Given the description of an element on the screen output the (x, y) to click on. 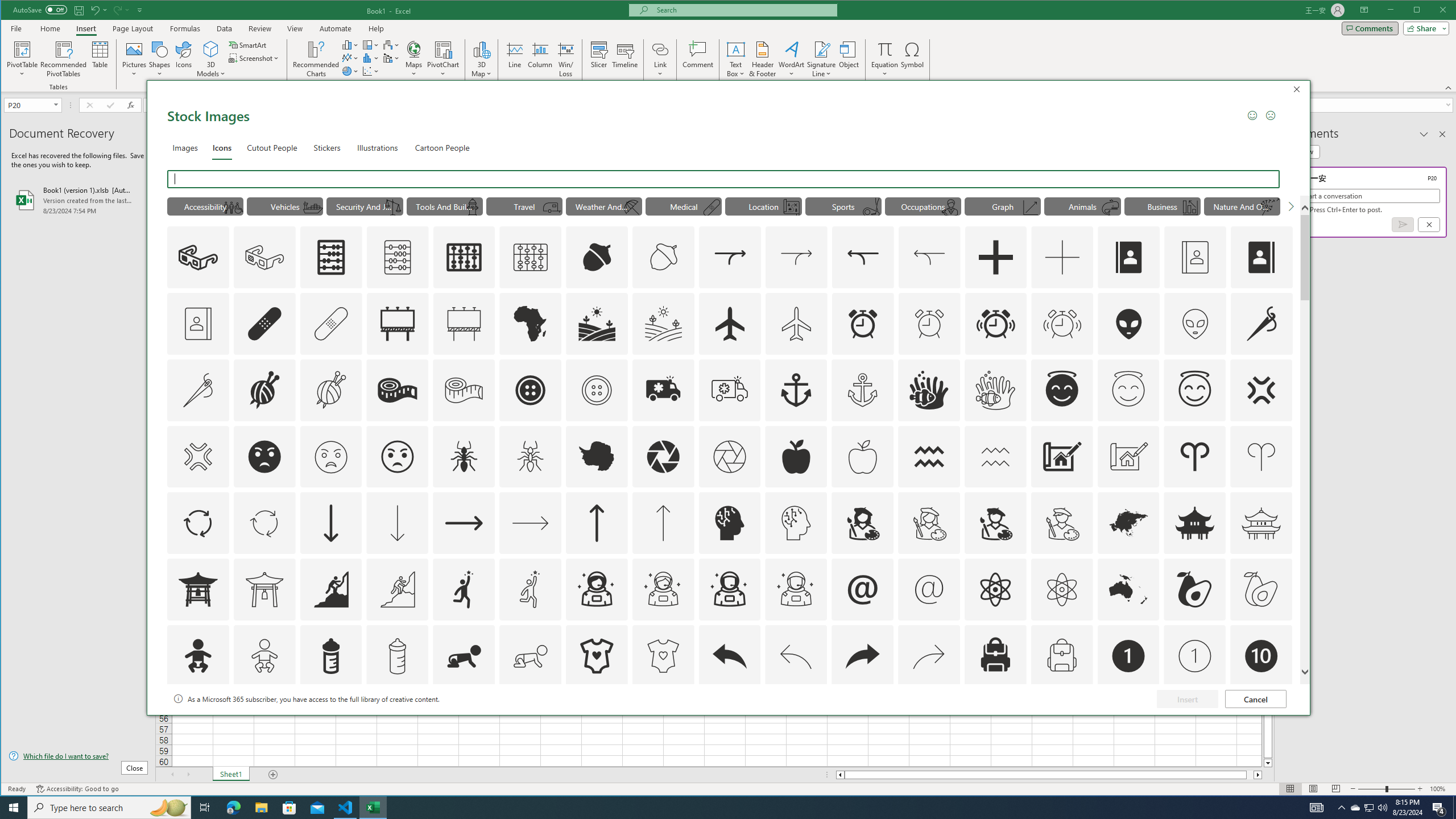
Win/Loss (565, 59)
AutomationID: 4105 (1316, 807)
AutomationID: Icons_Aquarius (928, 456)
AutomationID: Icons_Advertising (397, 323)
AutomationID: Icons_LinearGraph_LTR_M (1030, 207)
AutomationID: Icons_3dGlasses (197, 256)
AutomationID: Icons_Australia (1128, 589)
PivotTable (22, 48)
Signature Line (821, 48)
AutomationID: Icons_Architecture_M (1128, 456)
